Given the description of an element on the screen output the (x, y) to click on. 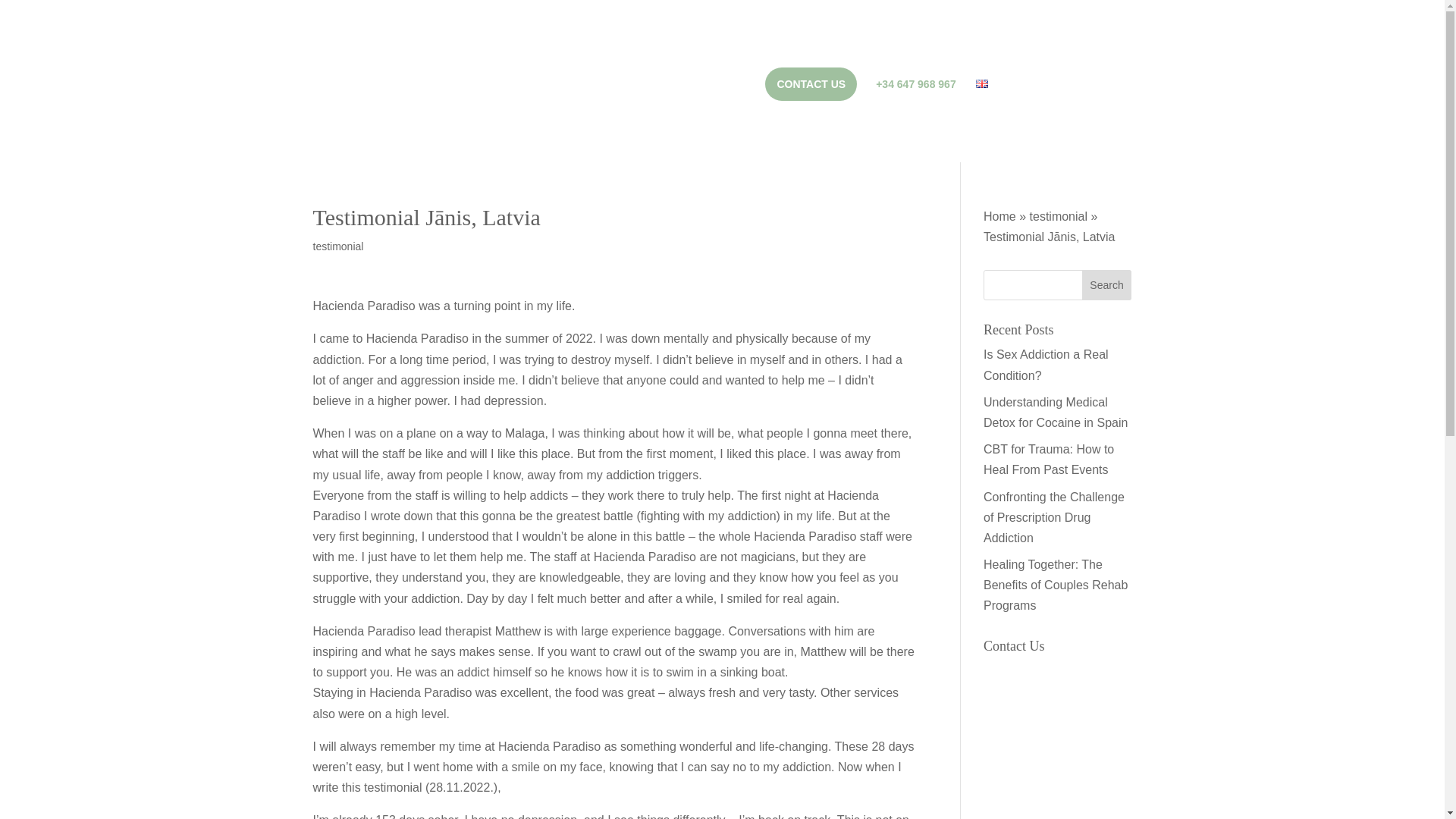
Private rehab (725, 89)
About (570, 89)
Search (1106, 285)
Rooms (464, 89)
Gallery (515, 89)
Healing Together: The Benefits of Couples Rehab Programs (1055, 584)
CBT for Trauma: How to Heal From Past Events (1048, 459)
Home (1000, 215)
Treatments (642, 89)
Confronting the Challenge of Prescription Drug Addiction (1054, 516)
